Given the description of an element on the screen output the (x, y) to click on. 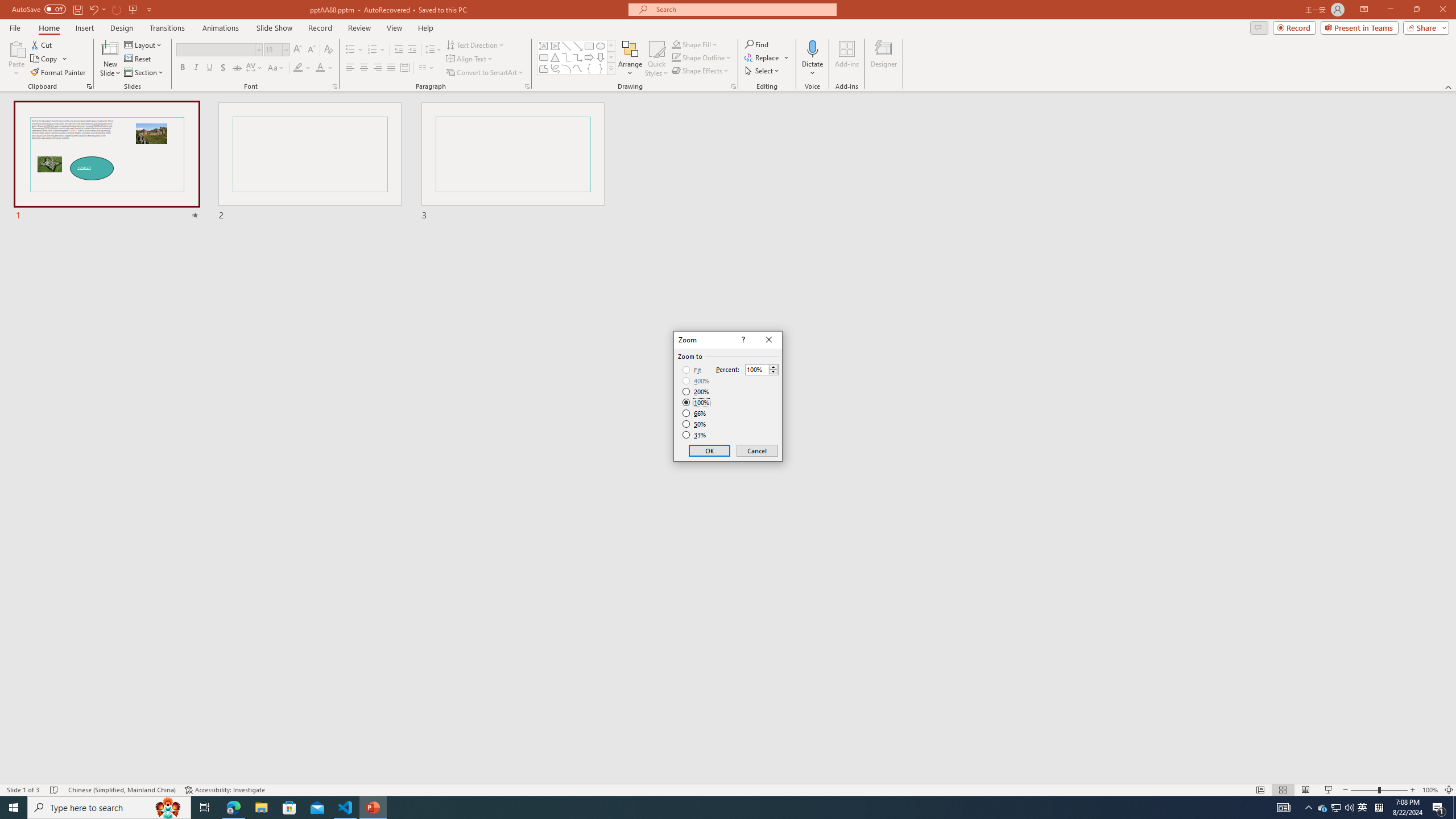
33% (694, 434)
OK (709, 450)
